Given the description of an element on the screen output the (x, y) to click on. 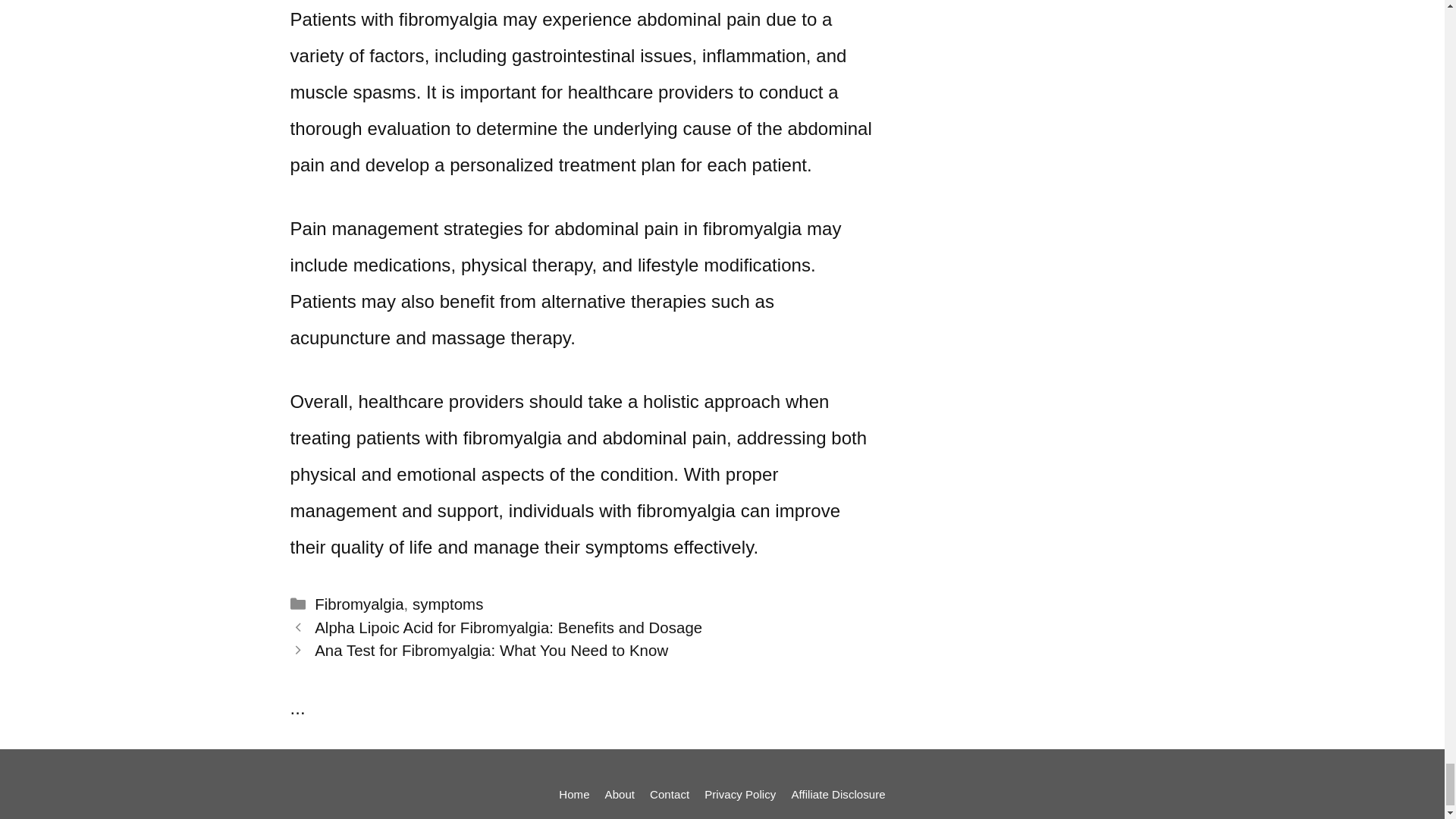
Home (574, 793)
Ana Test for Fibromyalgia: What You Need to Know (491, 650)
Affiliate Disclosure (837, 793)
Privacy Policy (740, 793)
Fibromyalgia (358, 604)
symptoms (447, 604)
About (619, 793)
Alpha Lipoic Acid for Fibromyalgia: Benefits and Dosage (507, 627)
Contact (668, 793)
